Given the description of an element on the screen output the (x, y) to click on. 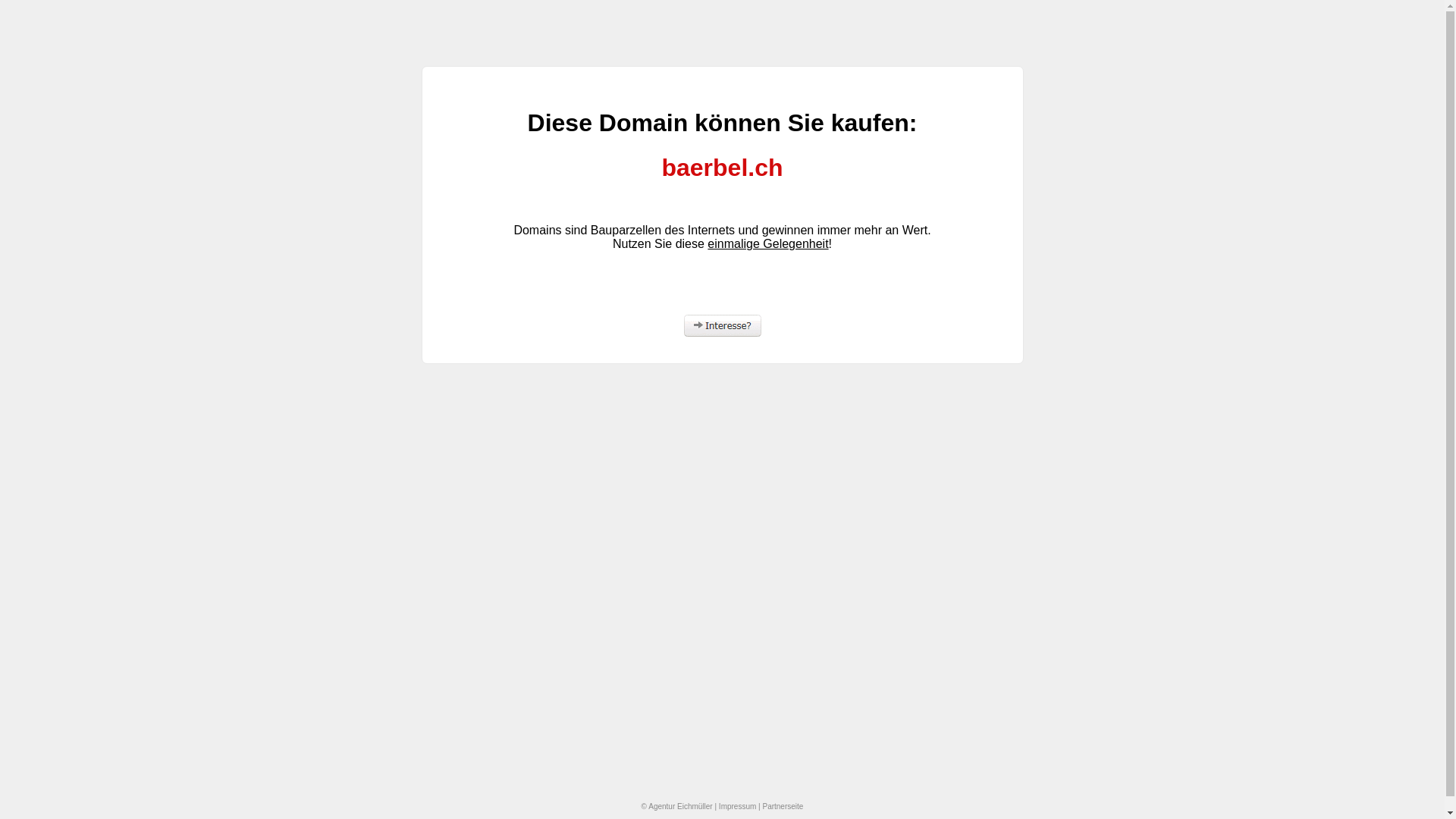
Impressum Element type: text (737, 806)
baerbel.ch Element type: text (721, 167)
Partnerseite Element type: text (782, 806)
